Given the description of an element on the screen output the (x, y) to click on. 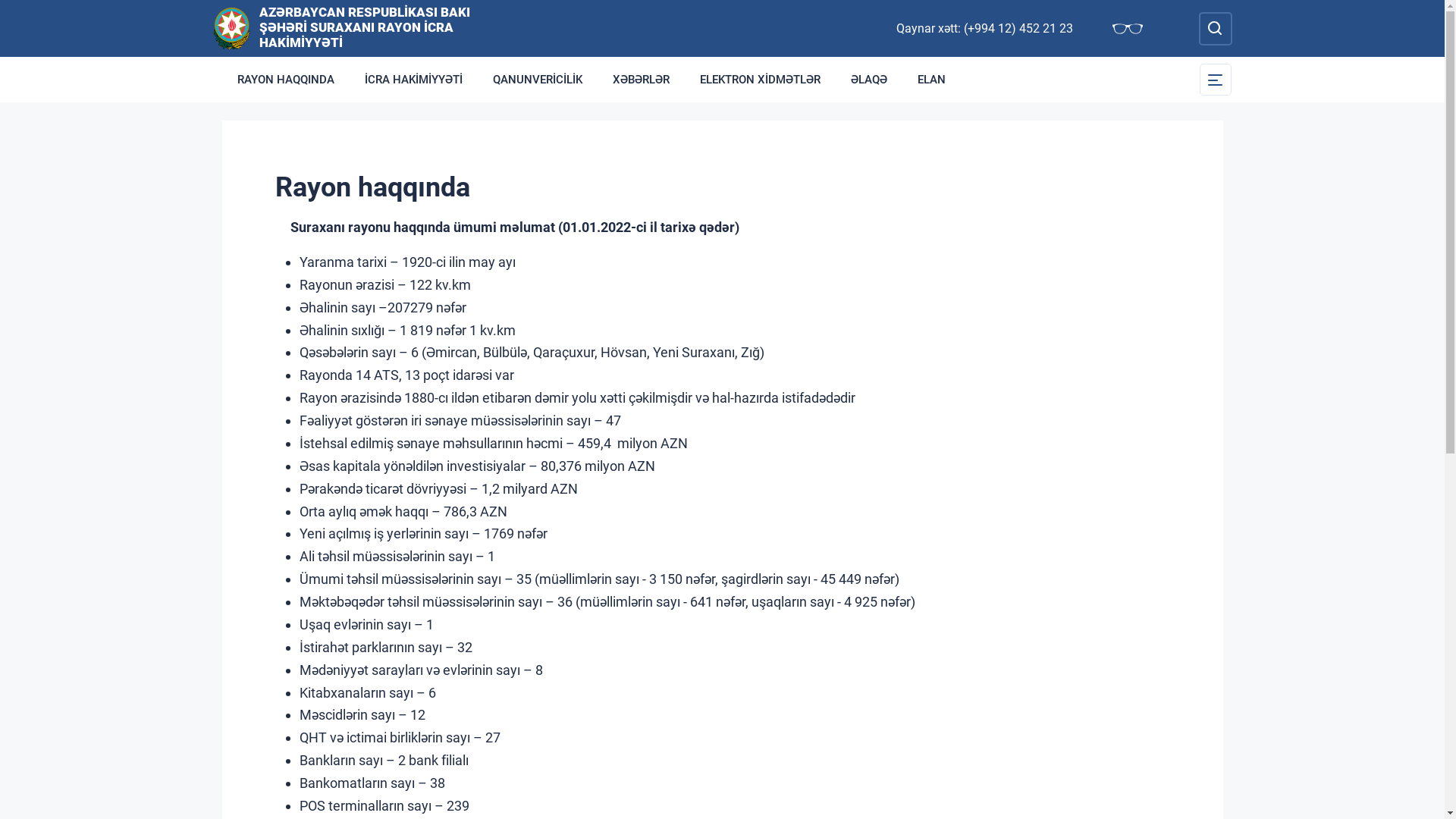
RAYON HAQQINDA Element type: text (284, 79)
QANUNVERICILIK Element type: text (537, 79)
ELAN Element type: text (931, 79)
